Given the description of an element on the screen output the (x, y) to click on. 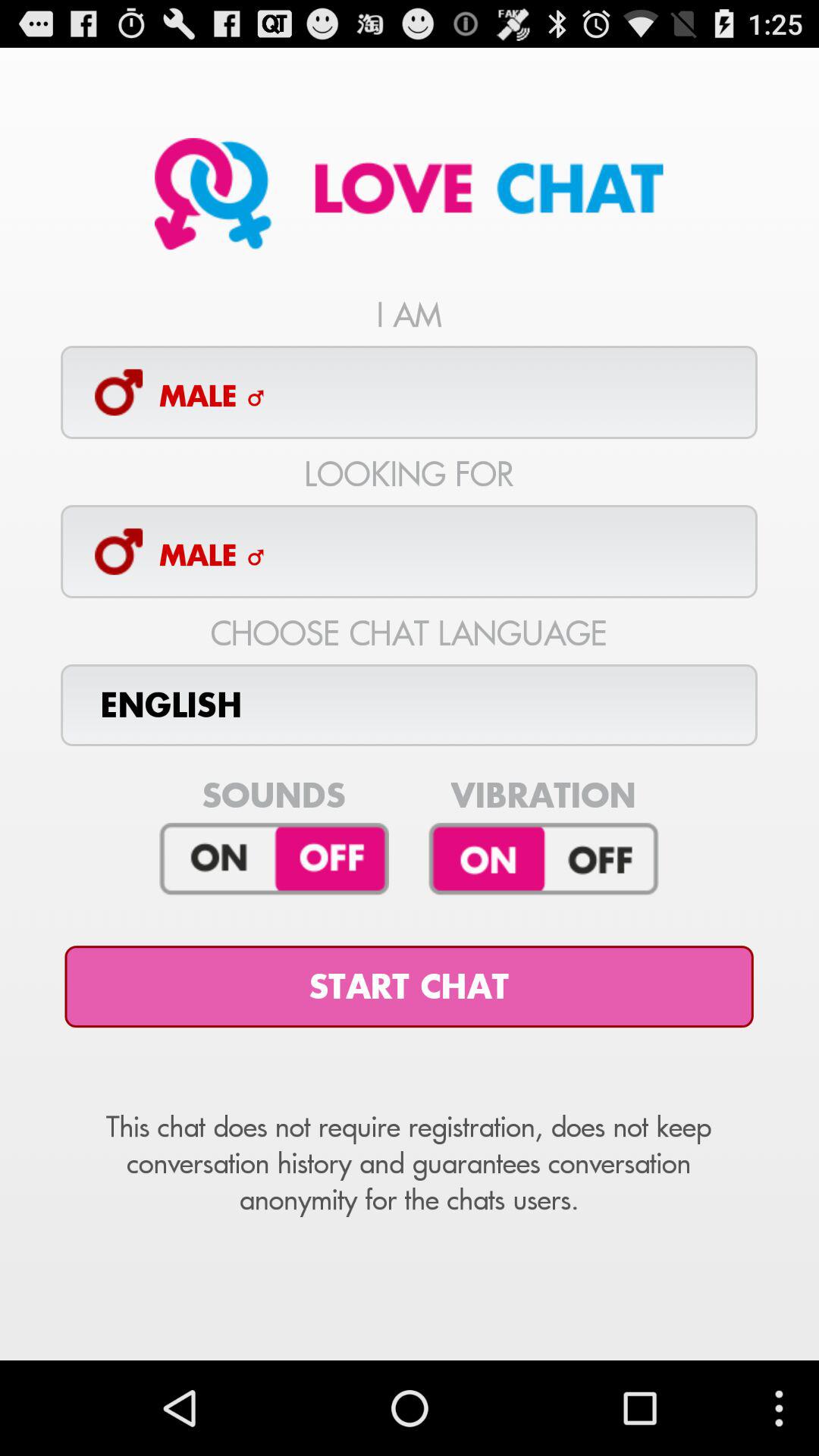
jump until the start chat button (408, 986)
